Given the description of an element on the screen output the (x, y) to click on. 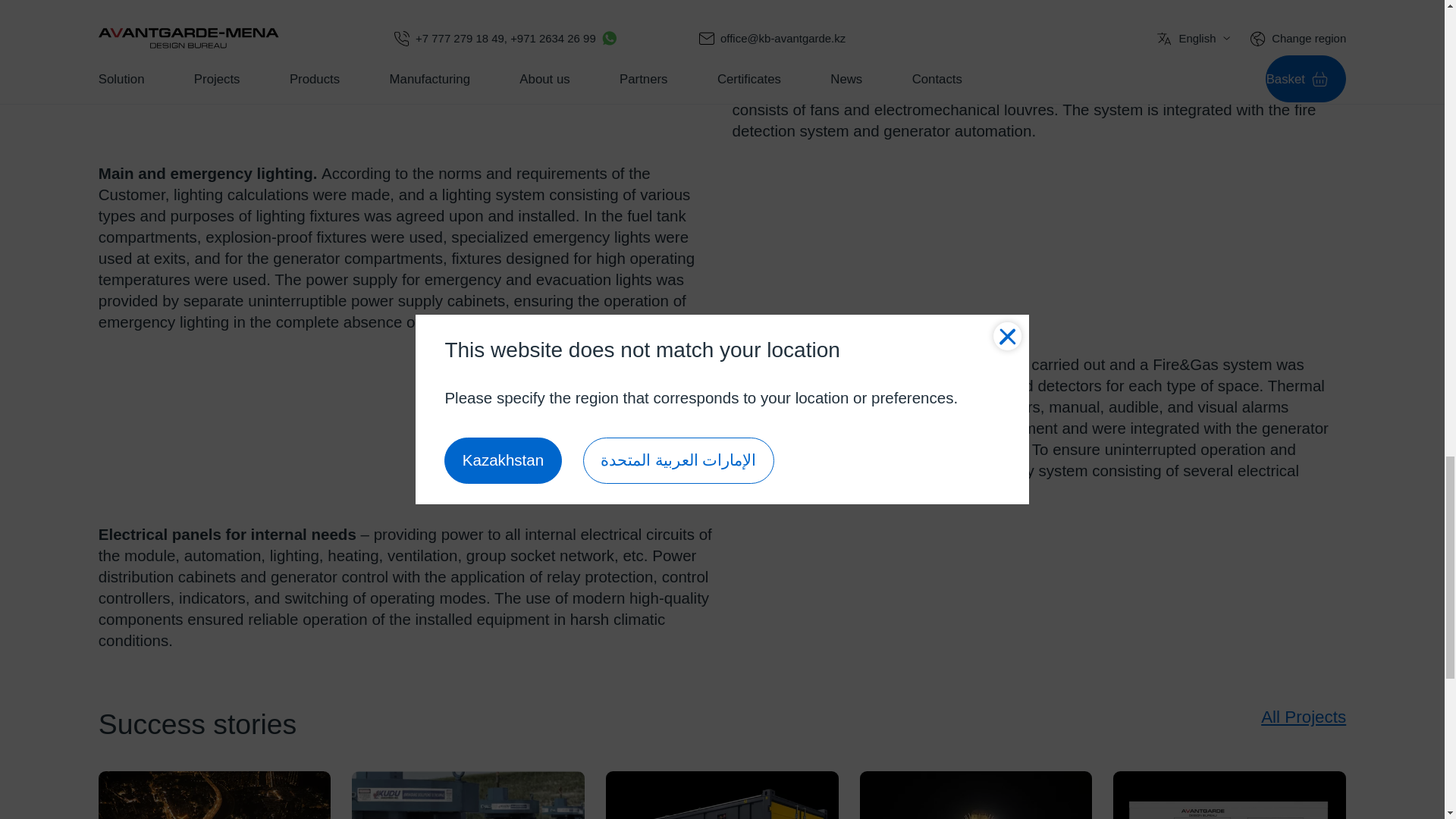
Development and Implementation of Power Supply System (721, 795)
Development and production of Load Banks (1229, 795)
Lighting automation project in East Kazakhstan region (976, 795)
Development of control stations for screw pumps (468, 795)
